Given the description of an element on the screen output the (x, y) to click on. 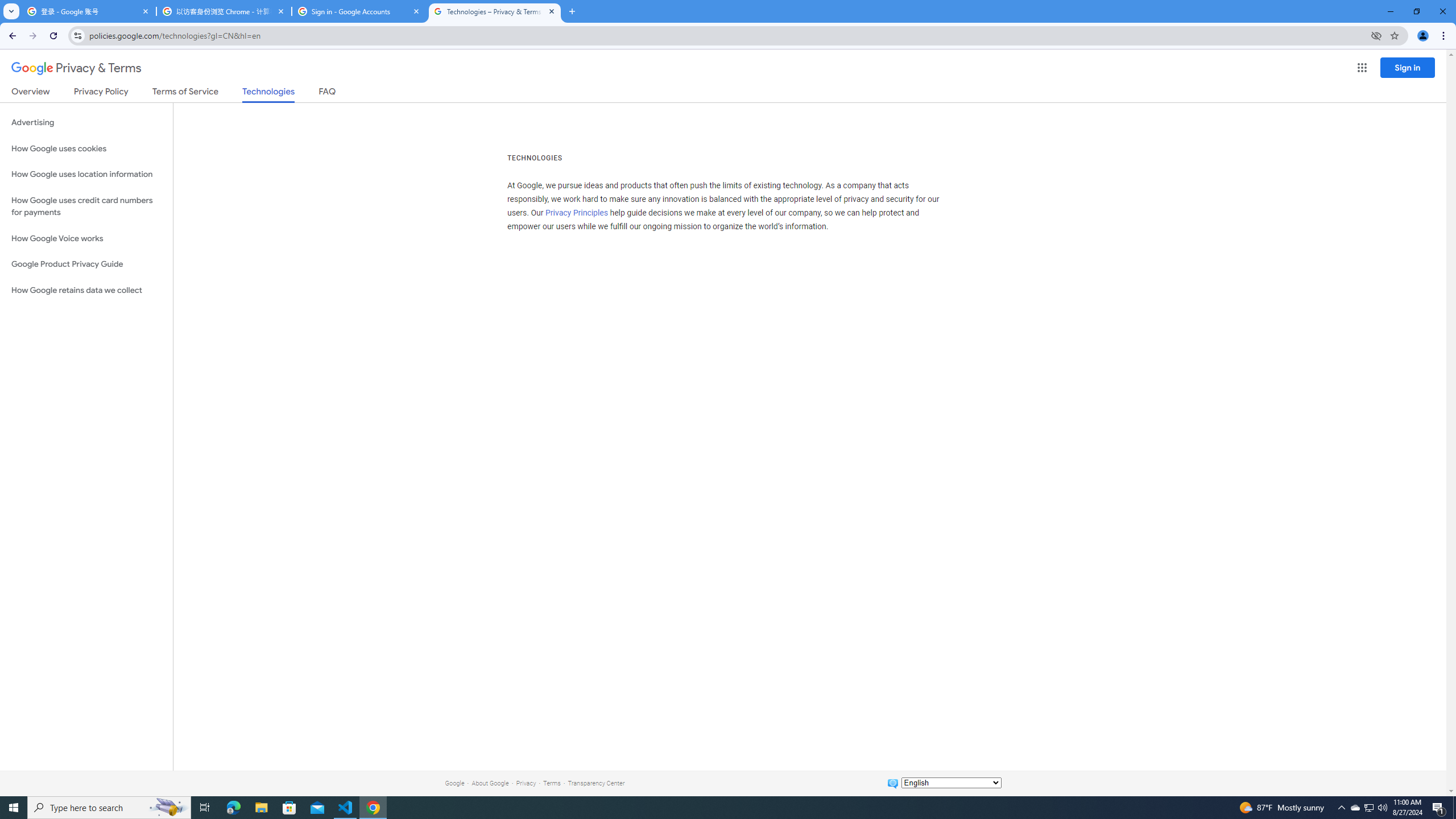
Google Product Privacy Guide (86, 264)
How Google uses location information (86, 174)
How Google retains data we collect (86, 289)
How Google Voice works (86, 238)
Change language: (951, 782)
